Given the description of an element on the screen output the (x, y) to click on. 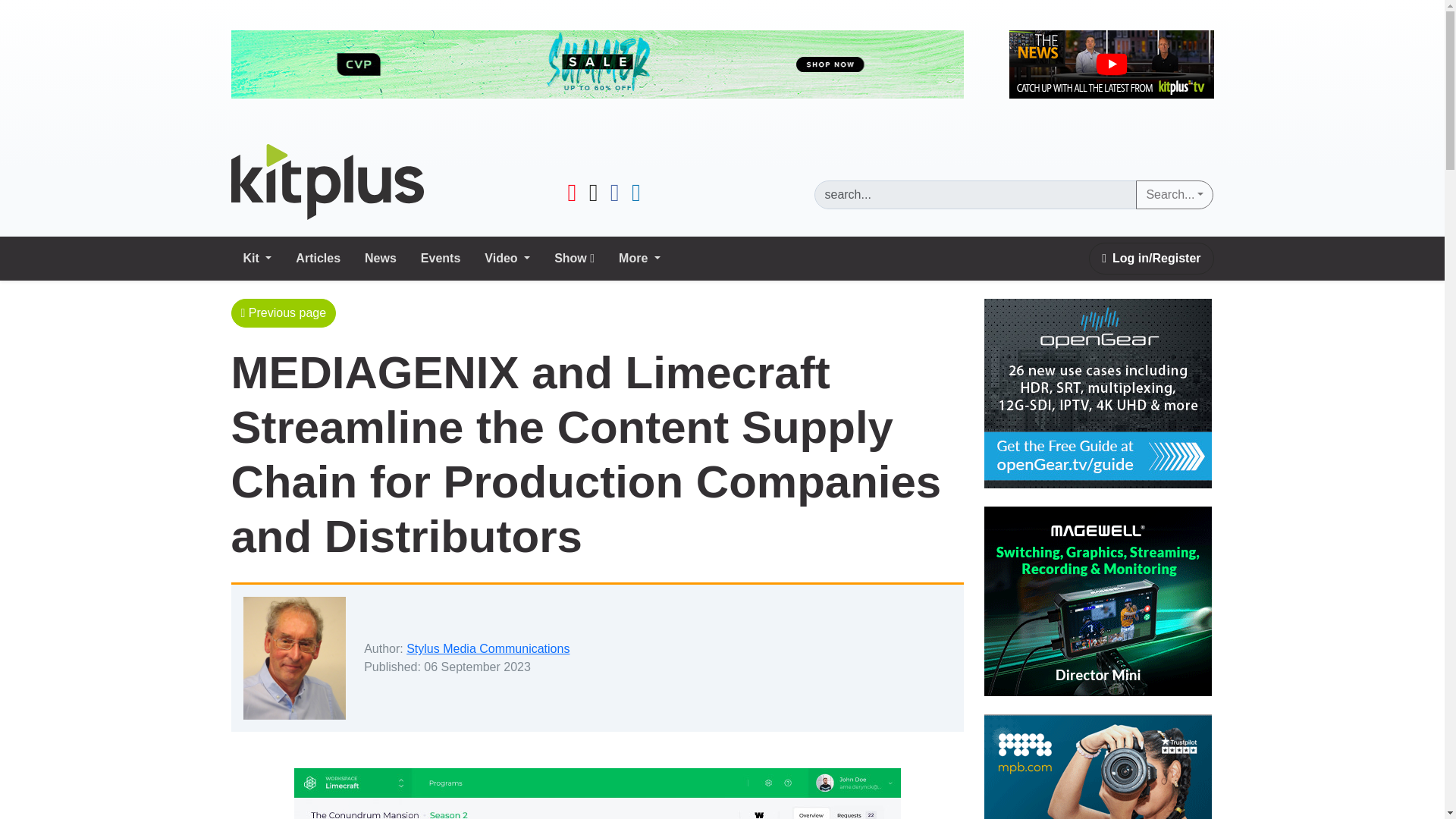
Show (574, 258)
Video (506, 258)
Events (440, 258)
More (639, 258)
Search... (1173, 194)
Kit (256, 258)
News (380, 258)
Articles (317, 258)
